Given the description of an element on the screen output the (x, y) to click on. 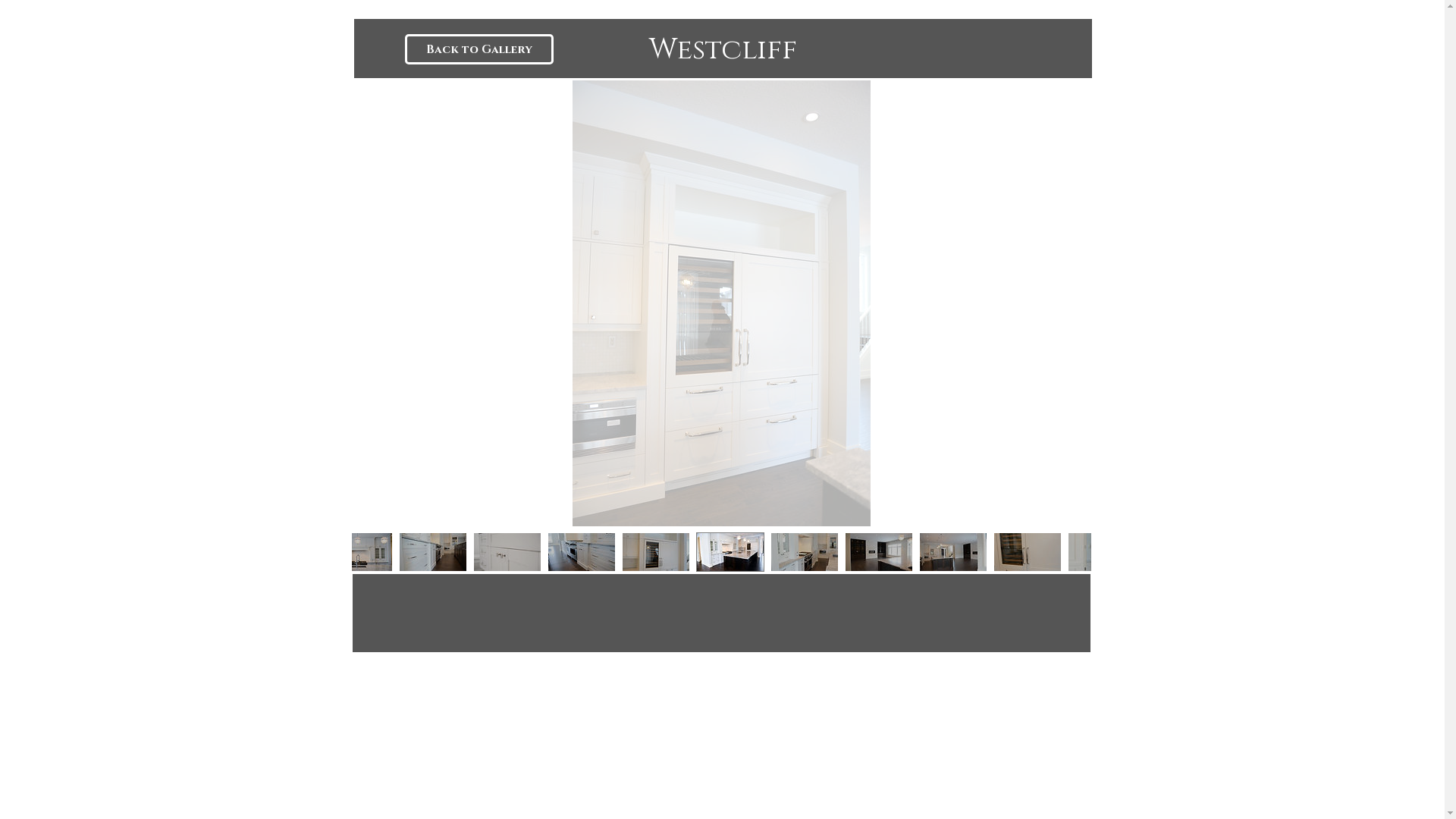
Back to Gallery Element type: text (478, 49)
